Given the description of an element on the screen output the (x, y) to click on. 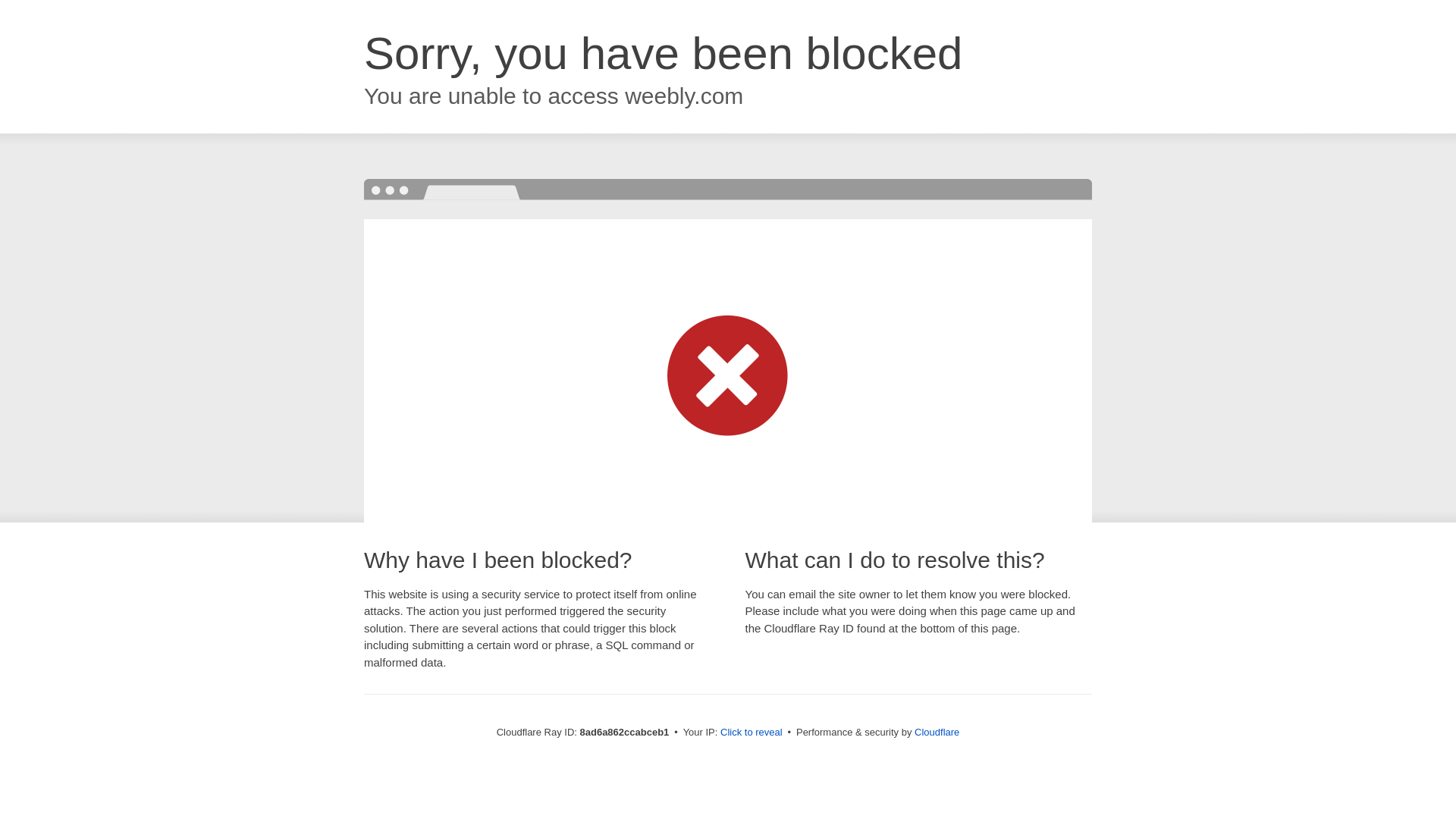
Click to reveal (751, 732)
Cloudflare (936, 731)
